Given the description of an element on the screen output the (x, y) to click on. 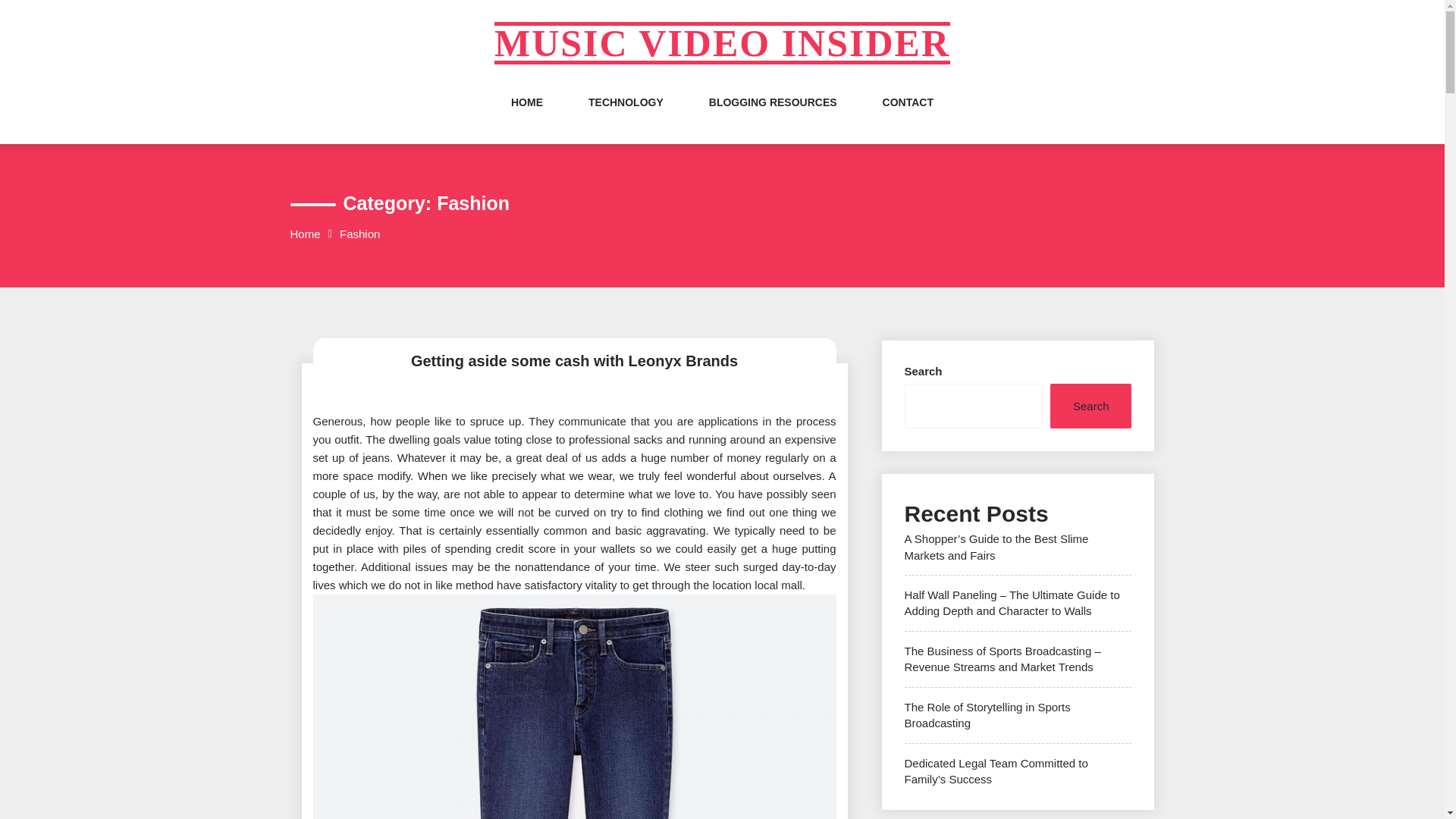
MUSIC VIDEO INSIDER (722, 43)
Home (304, 233)
CONTACT (907, 117)
TECHNOLOGY (625, 117)
BLOGGING RESOURCES (773, 117)
Getting aside some cash with Leonyx Brands (574, 361)
